Given the description of an element on the screen output the (x, y) to click on. 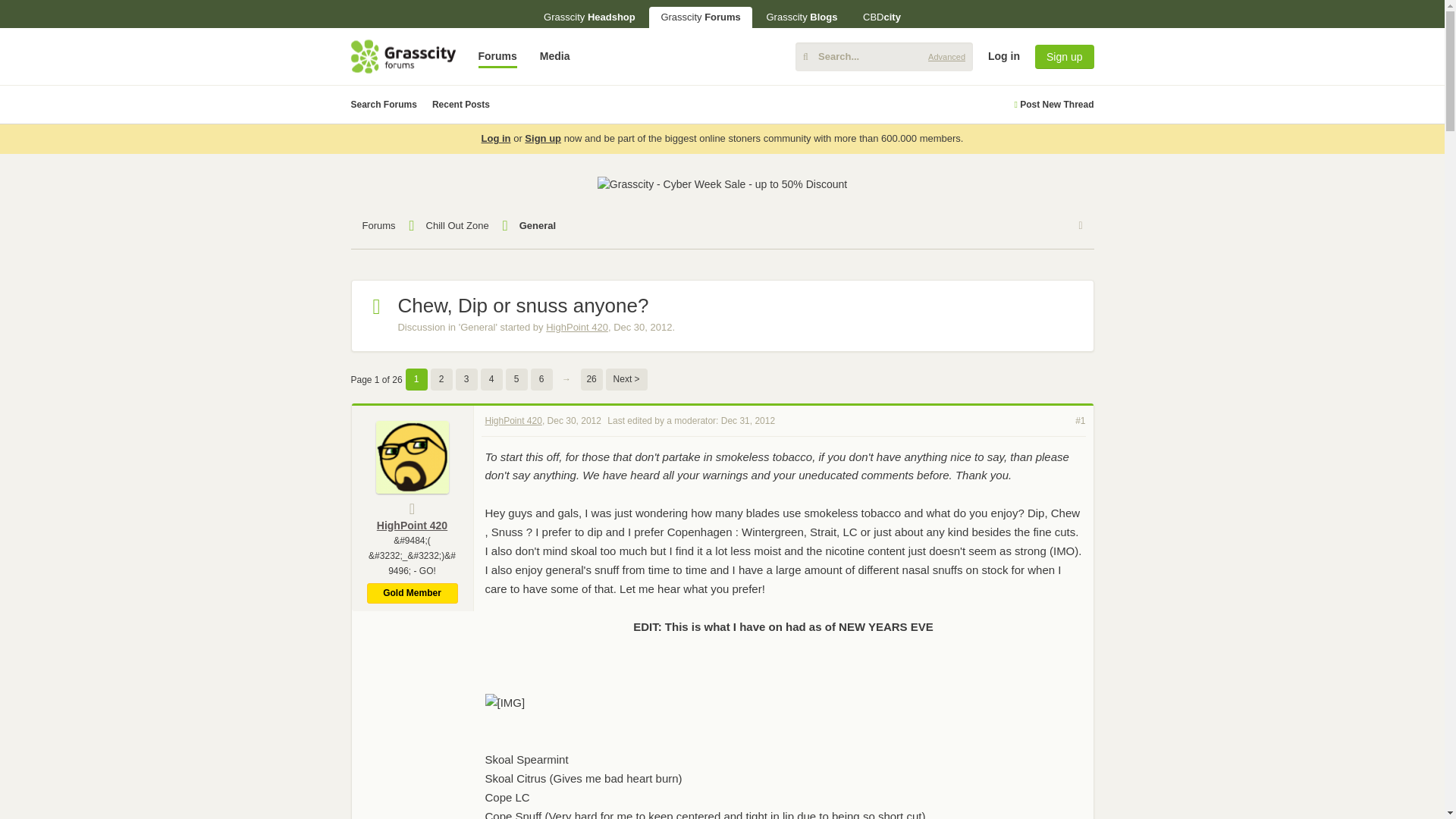
Log in (1316, 172)
Forums (497, 56)
Recent Posts (460, 104)
CBDcity (881, 16)
Advanced (946, 56)
Enter your search and hit enter (883, 56)
Search Forums (383, 104)
Sign up (1064, 56)
Dec 31, 2012 at 8:09 PM (747, 420)
Grasscity Blogs (801, 16)
